Given the description of an element on the screen output the (x, y) to click on. 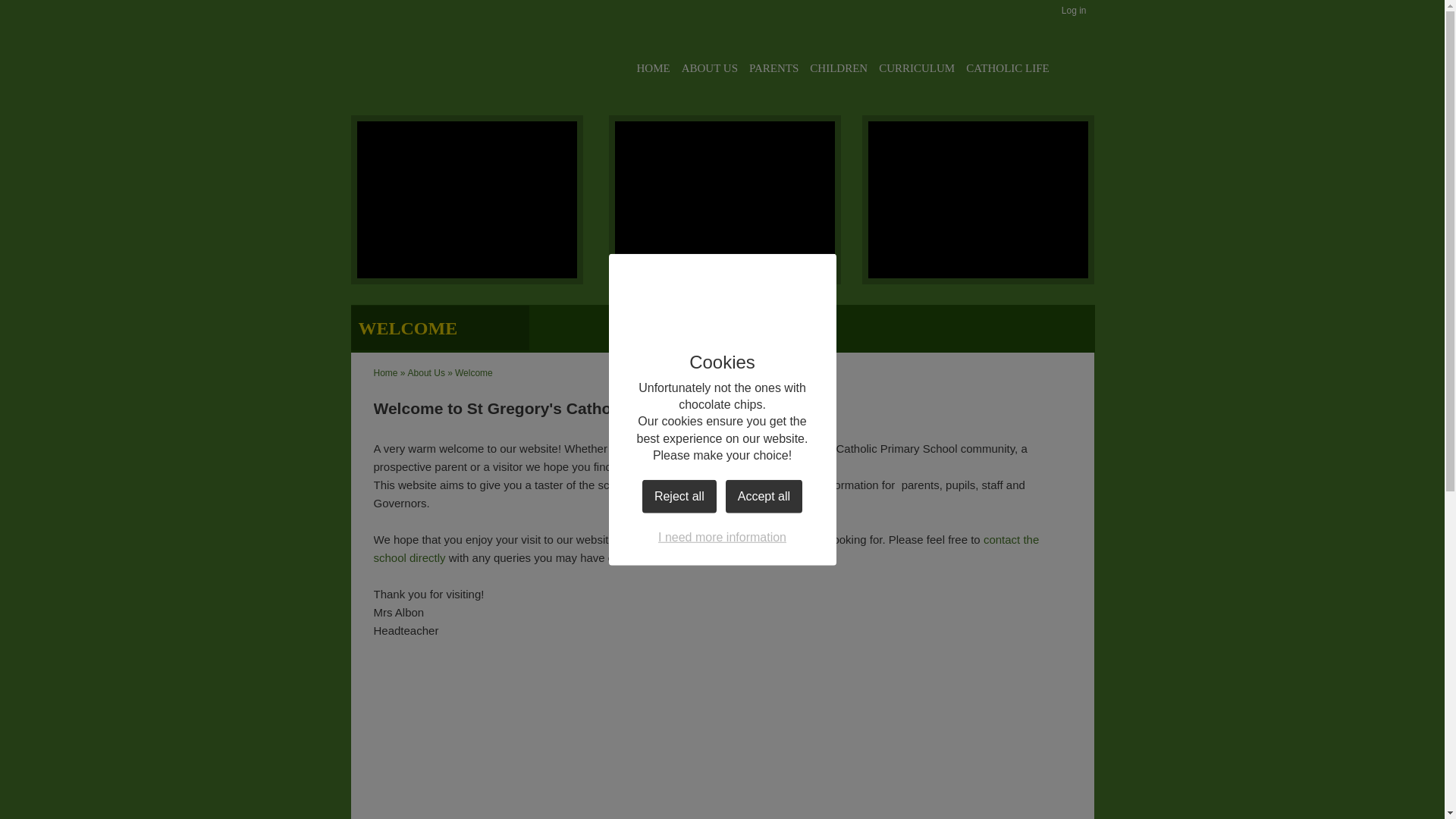
Home Page (403, 56)
Home Page (403, 56)
HOME (653, 69)
Log in (1073, 11)
ABOUT US (709, 69)
Welcome (473, 372)
Home (384, 372)
About Us (426, 372)
contact the school directly  (705, 548)
